Given the description of an element on the screen output the (x, y) to click on. 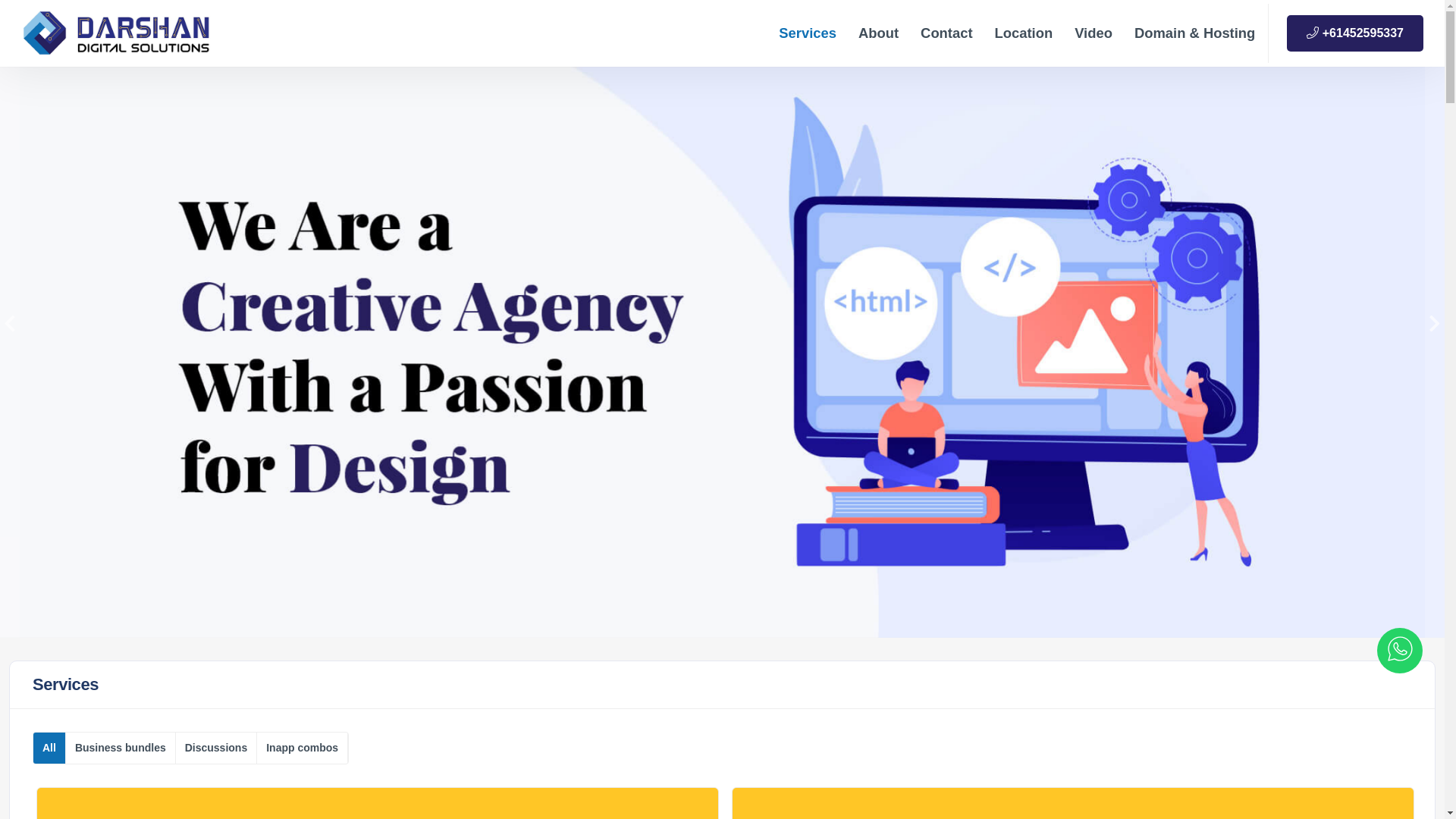
Services Element type: text (807, 32)
All Element type: text (49, 747)
Discussions Element type: text (216, 747)
Domain & Hosting Element type: text (1194, 32)
Inapp combos Element type: text (302, 747)
Location Element type: text (1023, 32)
Contact Element type: text (946, 32)
Video Element type: text (1093, 32)
Business bundles Element type: text (120, 747)
About Element type: text (878, 32)
+61452595337 Element type: text (1354, 33)
